Given the description of an element on the screen output the (x, y) to click on. 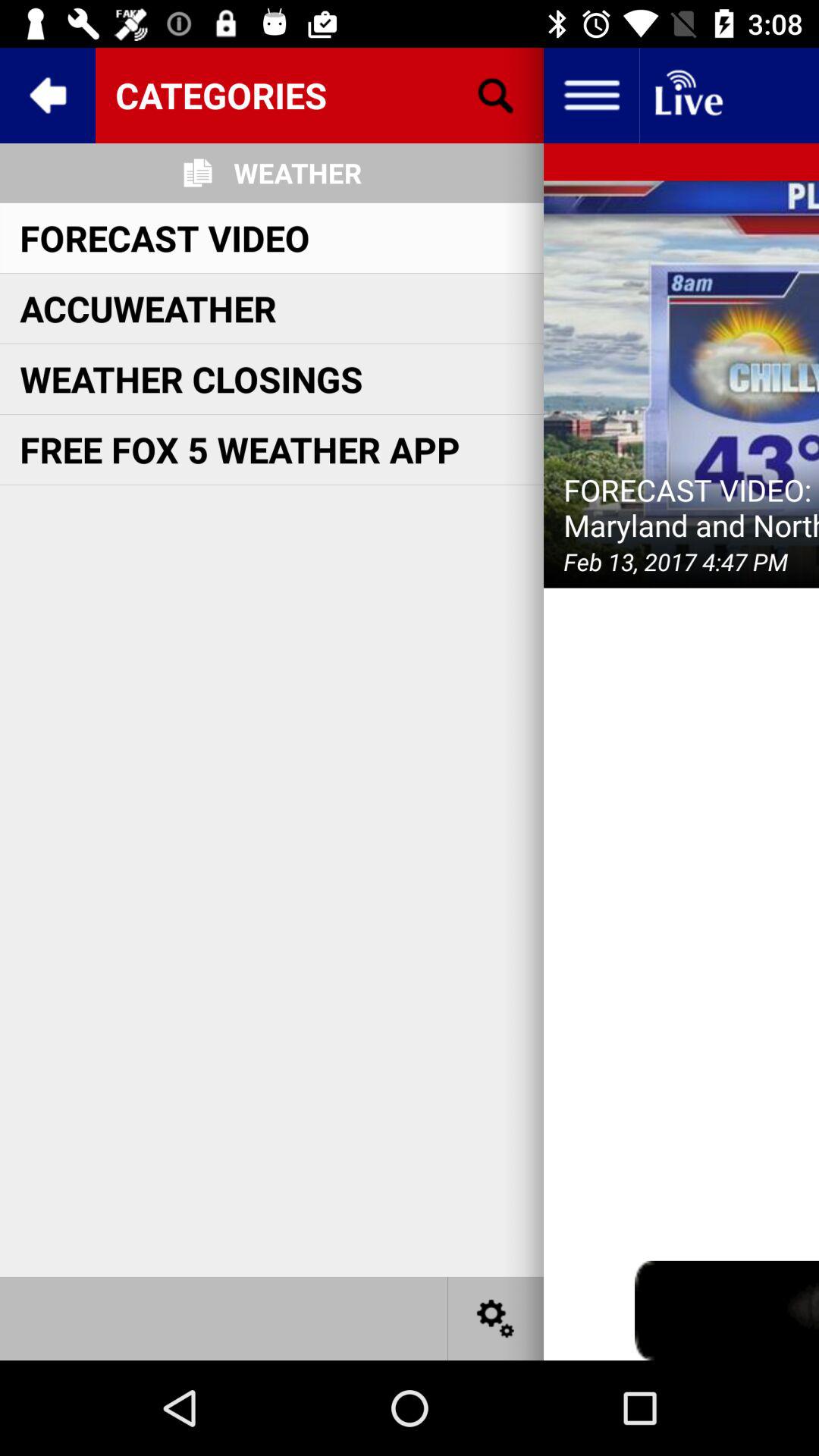
flip to accuweather icon (147, 308)
